Given the description of an element on the screen output the (x, y) to click on. 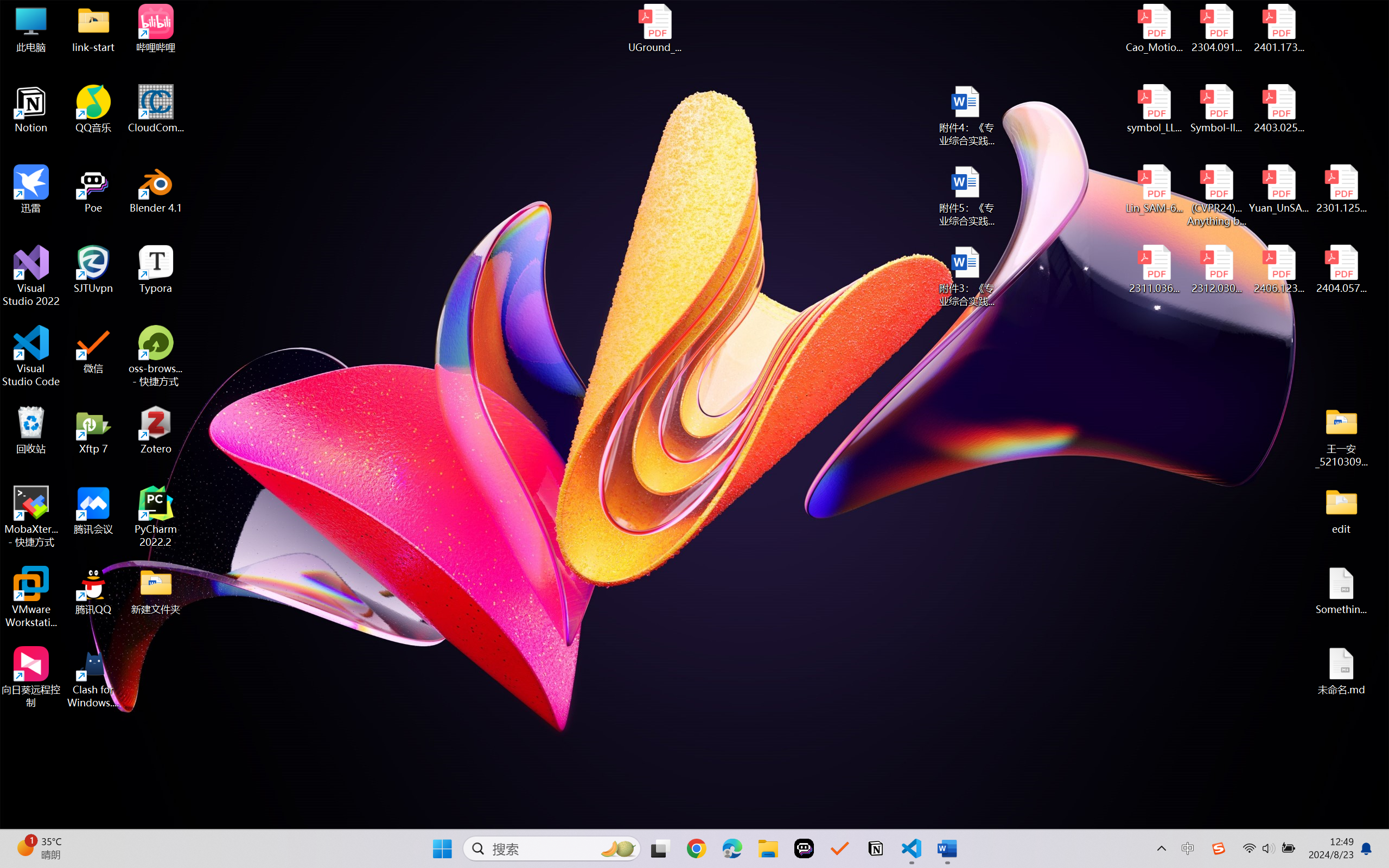
Something.md (1340, 591)
2404.05719v1.pdf (1340, 269)
edit (1340, 510)
